Given the description of an element on the screen output the (x, y) to click on. 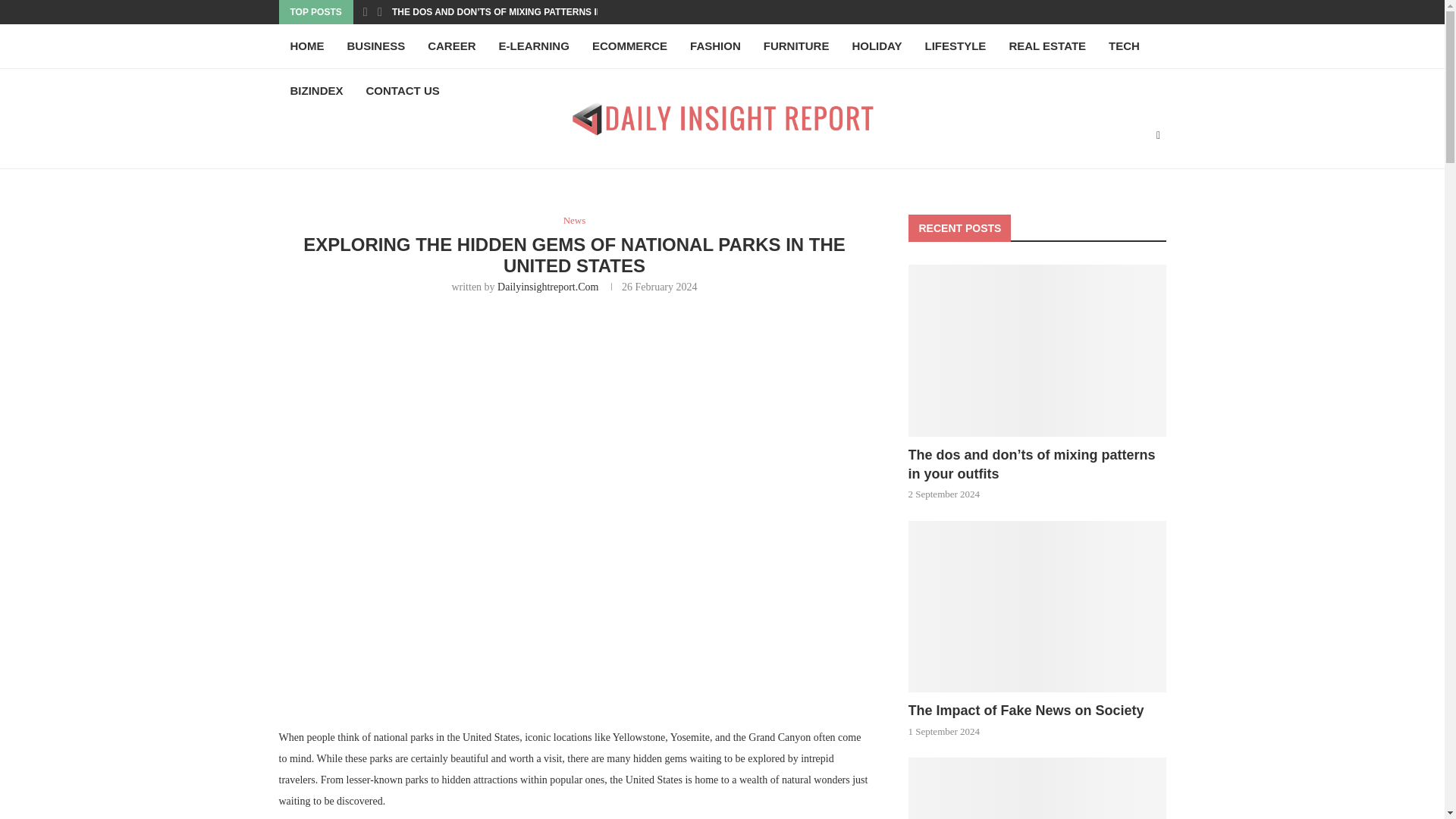
HOLIDAY (876, 46)
HOME (307, 46)
News (574, 220)
CAREER (451, 46)
LIFESTYLE (955, 46)
BIZINDEX (317, 90)
CONTACT US (403, 90)
FASHION (715, 46)
E-LEARNING (533, 46)
